Given the description of an element on the screen output the (x, y) to click on. 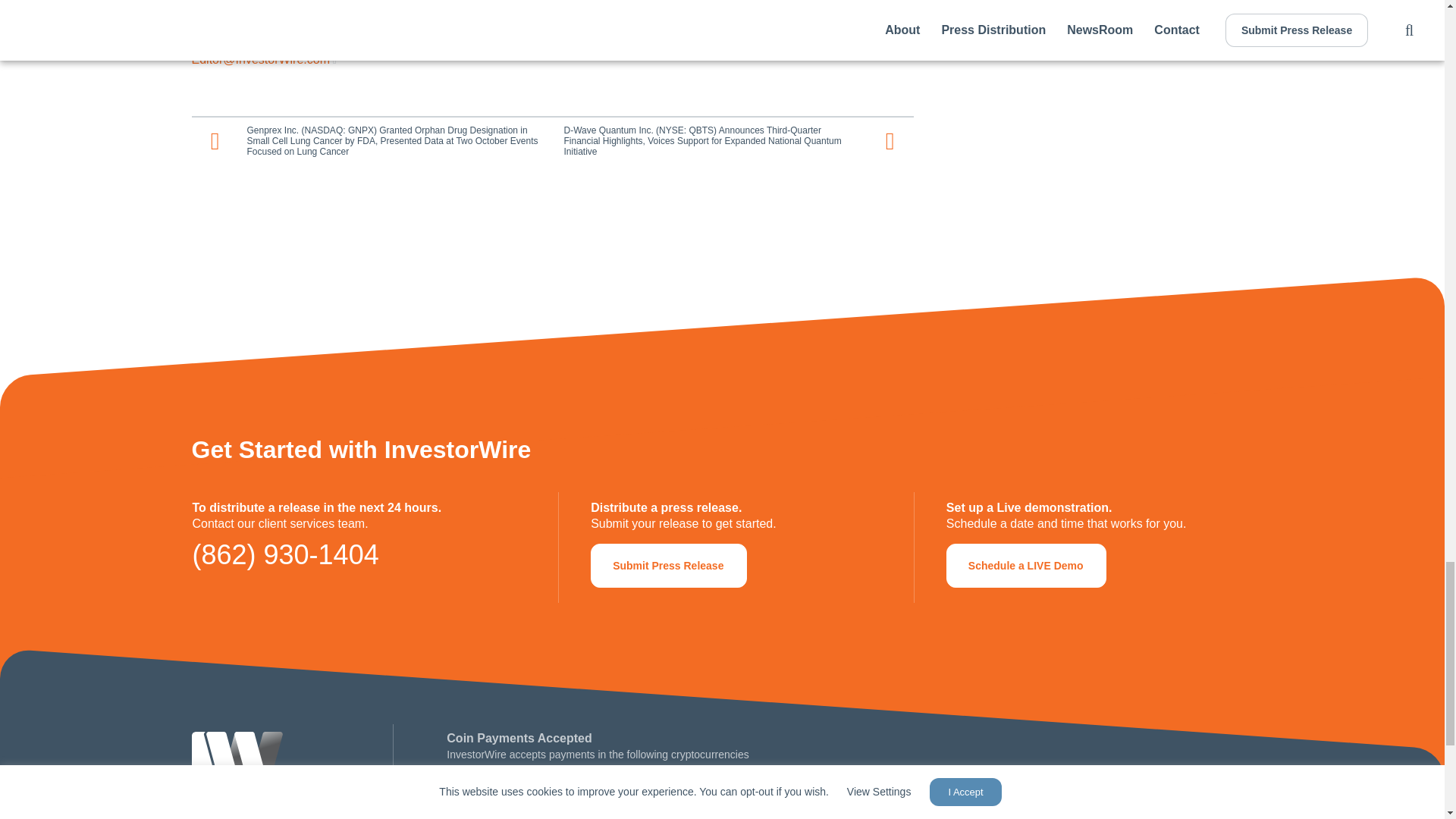
Bitcoin (463, 785)
www.InvestorWire.com (256, 19)
Bitcoin Cash (498, 785)
